Given the description of an element on the screen output the (x, y) to click on. 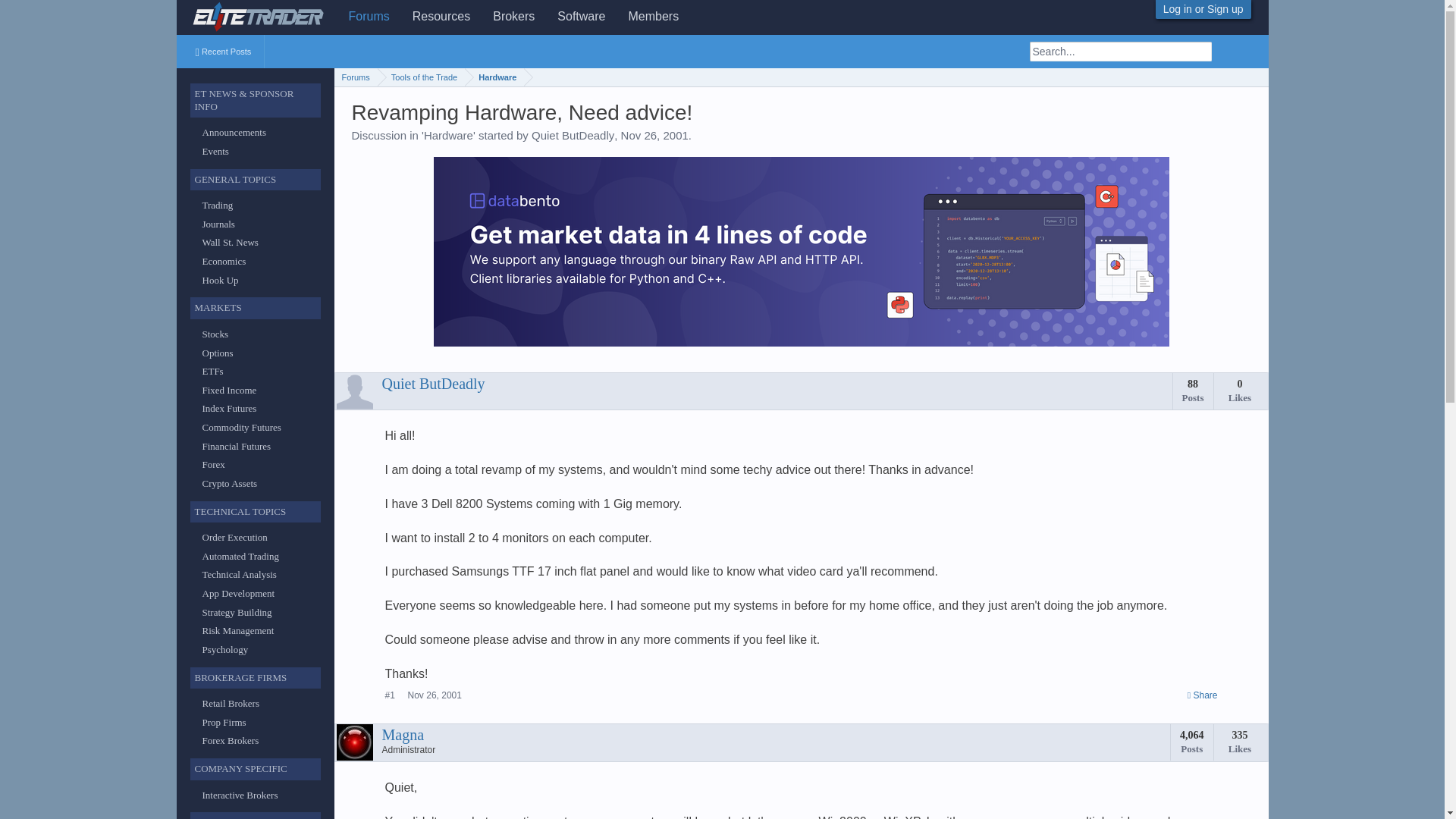
Wall St. News (229, 242)
App Development (238, 593)
Enter your search and hit enter (1120, 51)
Commodity Futures (241, 427)
Order Execution (234, 536)
Hook Up (220, 279)
Forex (213, 464)
Trading (217, 204)
Announcements (233, 132)
Forex Brokers (230, 740)
Risk Management (237, 630)
Strategy Building (236, 612)
Index Futures (229, 408)
Log in or Sign up (1203, 9)
Interactive Brokers (240, 794)
